Given the description of an element on the screen output the (x, y) to click on. 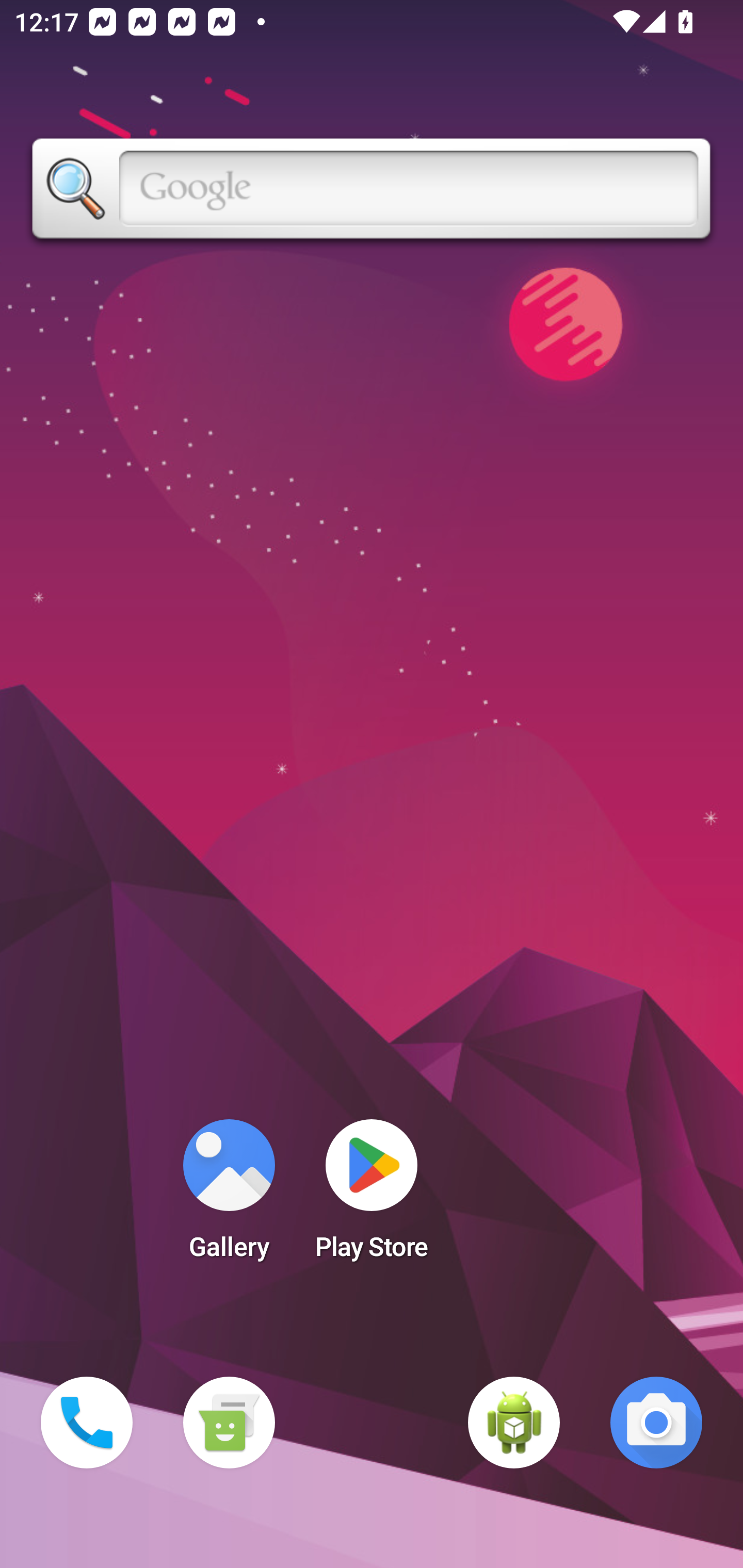
Gallery (228, 1195)
Play Store (371, 1195)
Phone (86, 1422)
Messaging (228, 1422)
WebView Browser Tester (513, 1422)
Camera (656, 1422)
